Given the description of an element on the screen output the (x, y) to click on. 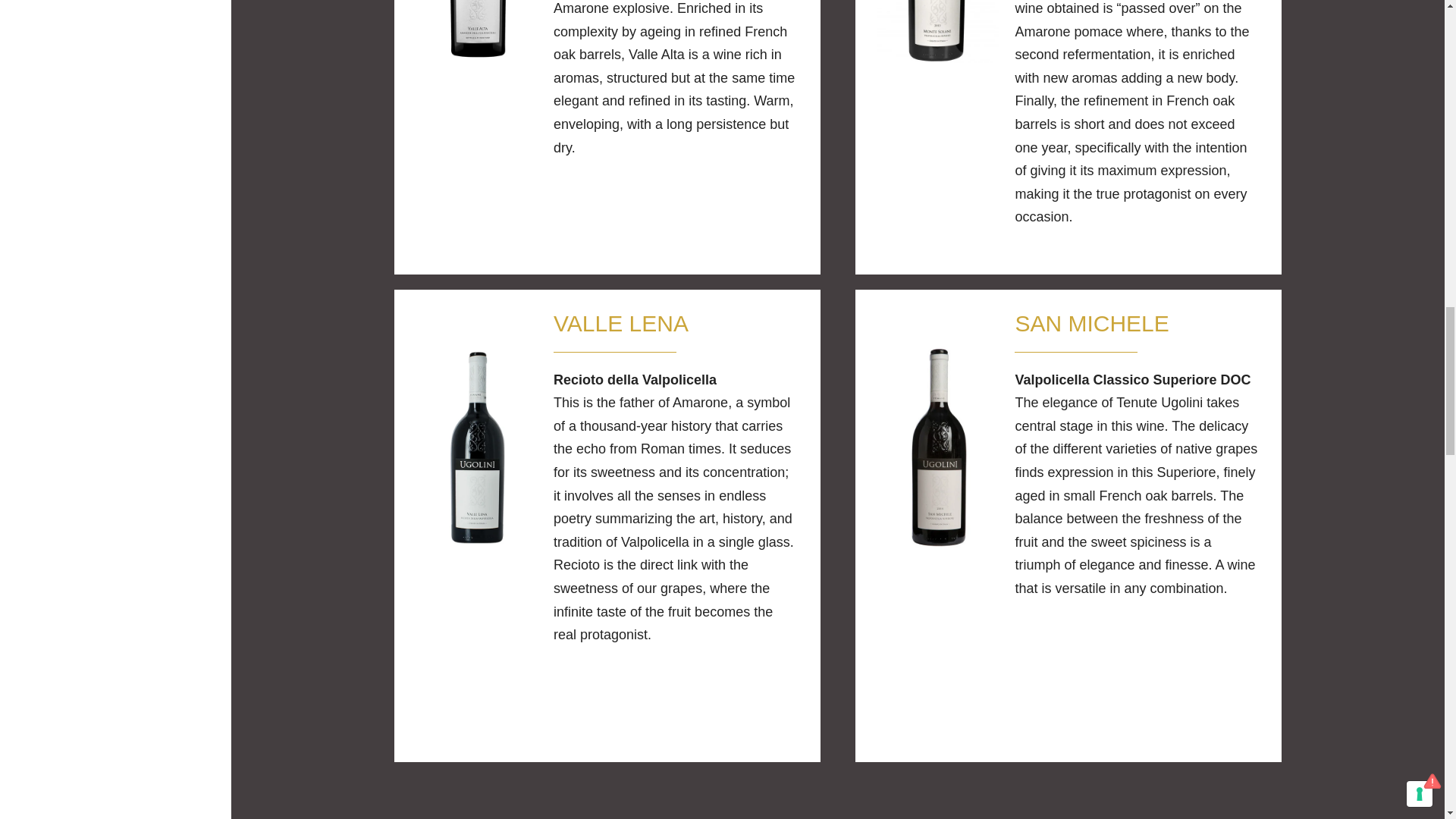
VALLE-alta-amarone-valpolicella-ugolini (476, 31)
monte-solane-ripasso-tenute-ugolini (937, 31)
